Given the description of an element on the screen output the (x, y) to click on. 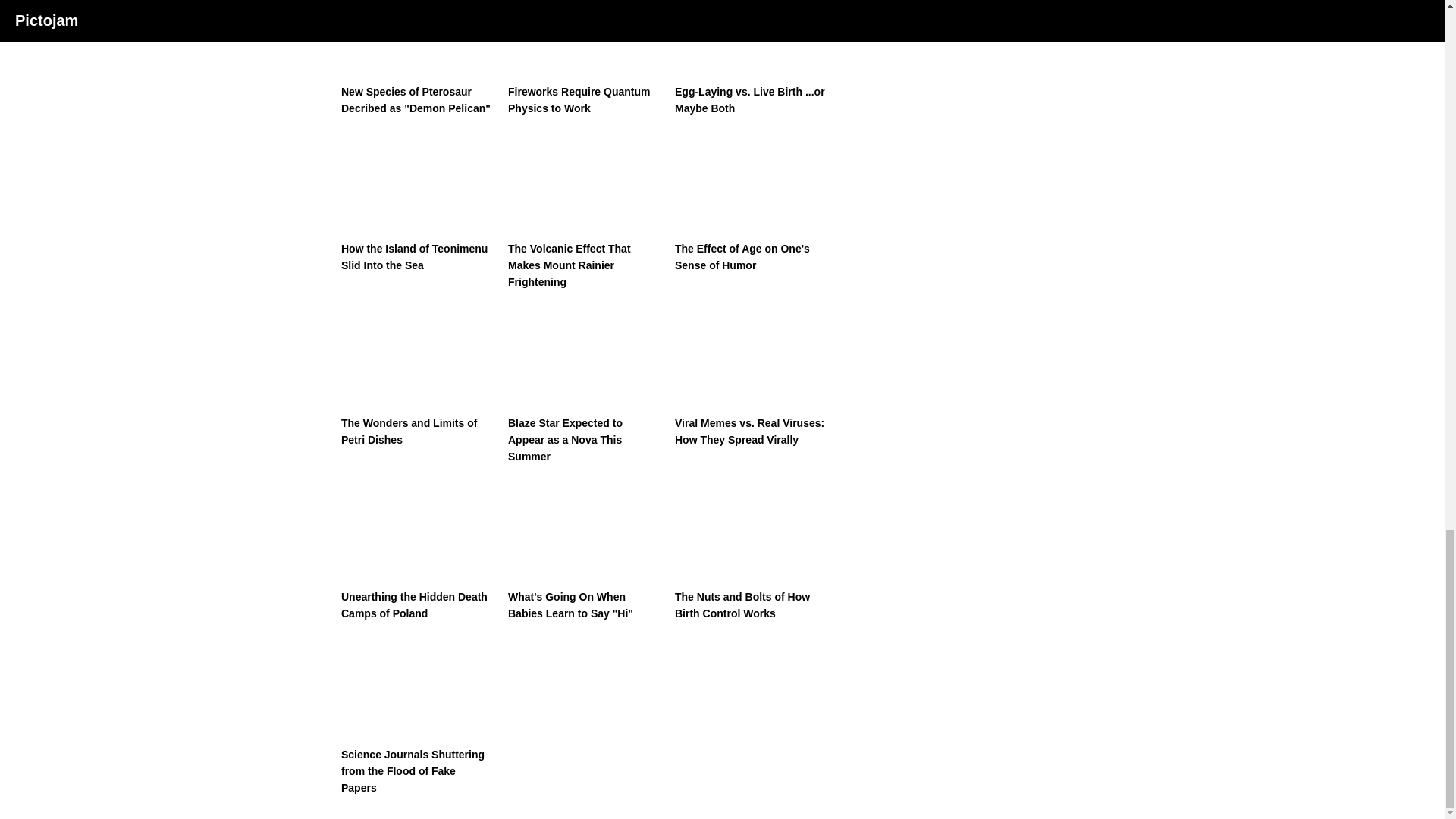
 Viral Memes vs. Real Viruses: How They Spread Virally (751, 376)
 Egg-Laying vs. Live Birth ...or Maybe Both (751, 58)
 The Volcanic Effect That Makes Mount Rainier Frightening (583, 211)
 How the Island of Teonimenu Slid Into the Sea (416, 202)
 Unearthing the Hidden Death Camps of Poland (416, 550)
 The Wonders and Limits of Petri Dishes (416, 376)
 New Species of Pterosaur Decribed as "Demon Pelican" (416, 58)
 Blaze Star Expected to Appear as a Nova This Summer (583, 385)
 What's Going On When Babies Learn to Say "Hi" (583, 550)
 Science Journals Shuttering from the Flood of Fake Papers (416, 716)
